Given the description of an element on the screen output the (x, y) to click on. 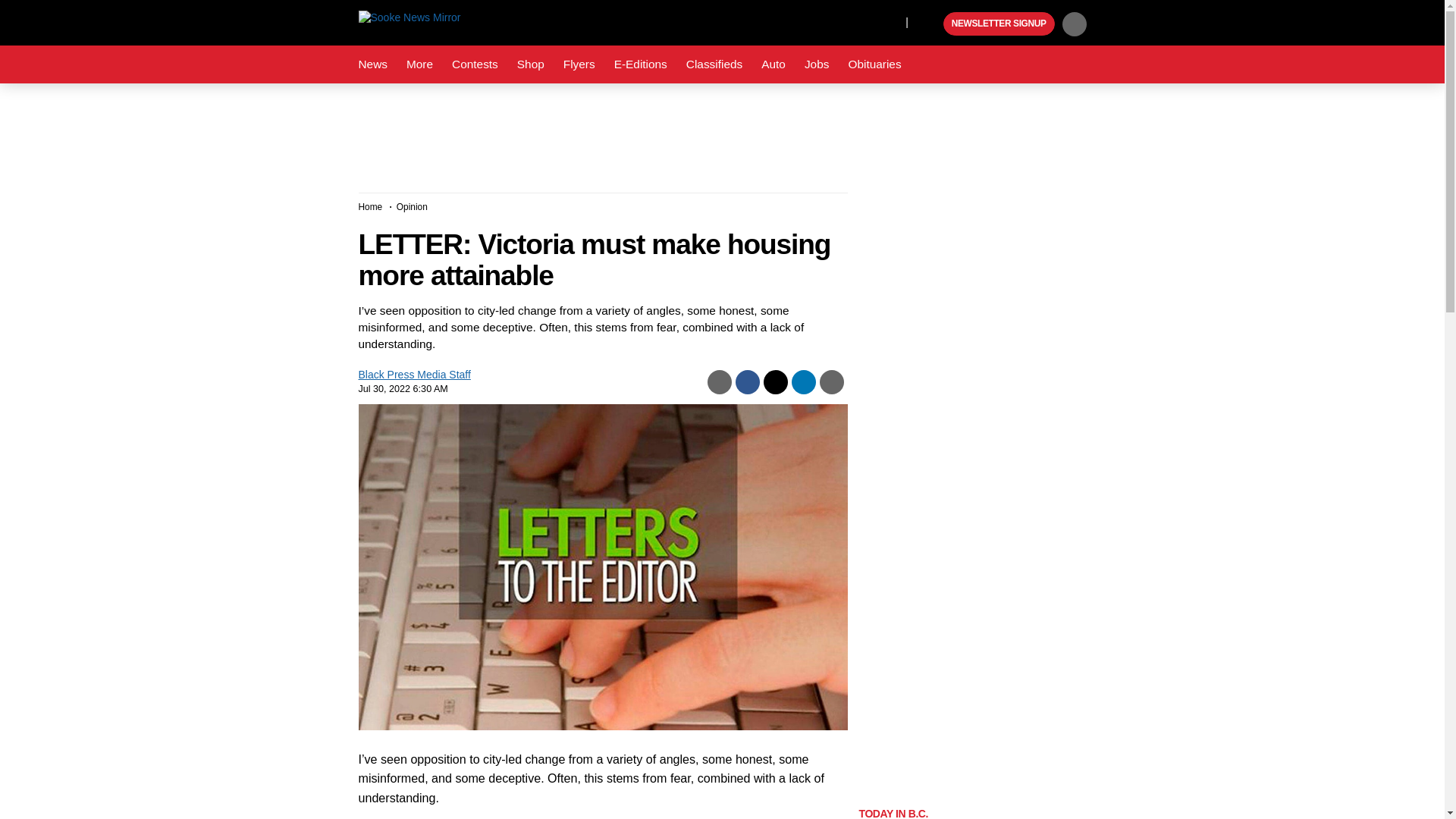
Black Press Media (929, 24)
News (372, 64)
Play (929, 24)
X (889, 21)
NEWSLETTER SIGNUP (998, 24)
